Given the description of an element on the screen output the (x, y) to click on. 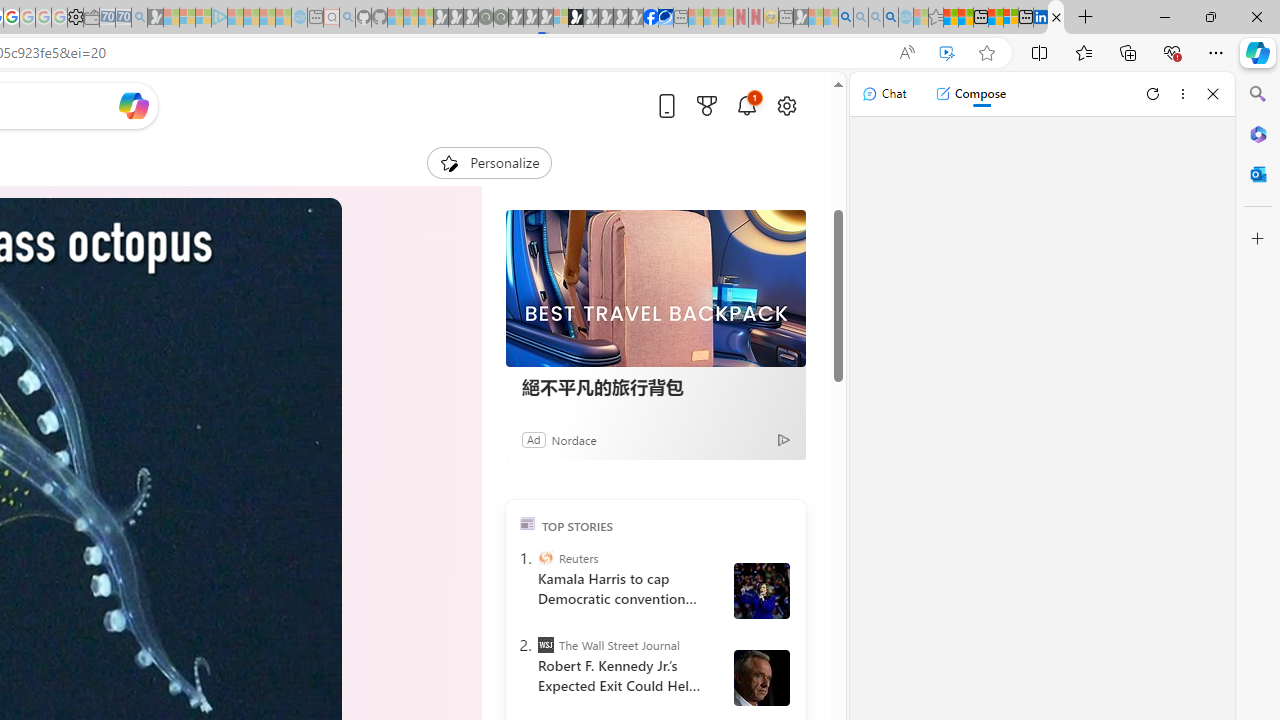
Share (274, 154)
